Given the description of an element on the screen output the (x, y) to click on. 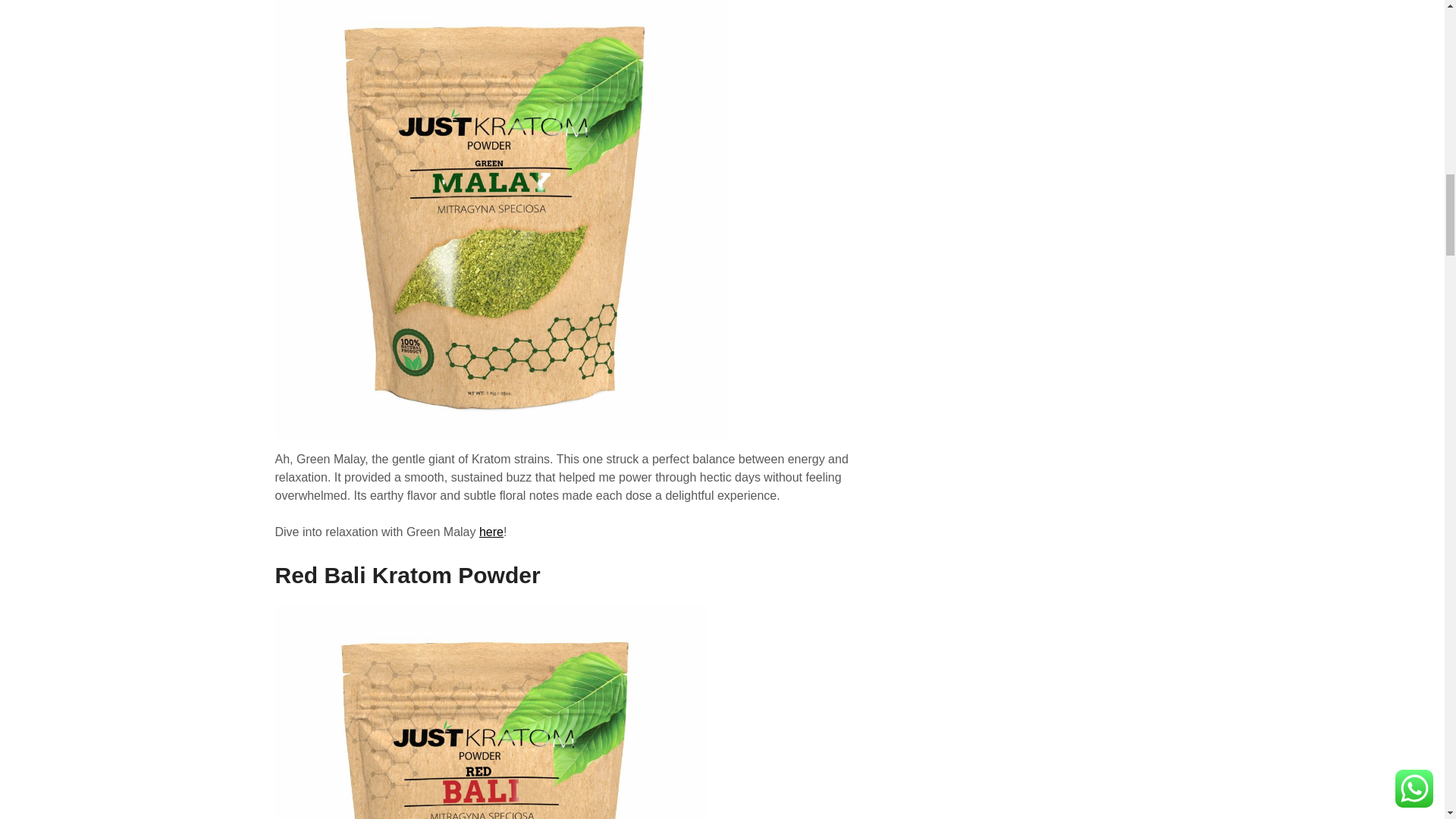
here (491, 531)
